Given the description of an element on the screen output the (x, y) to click on. 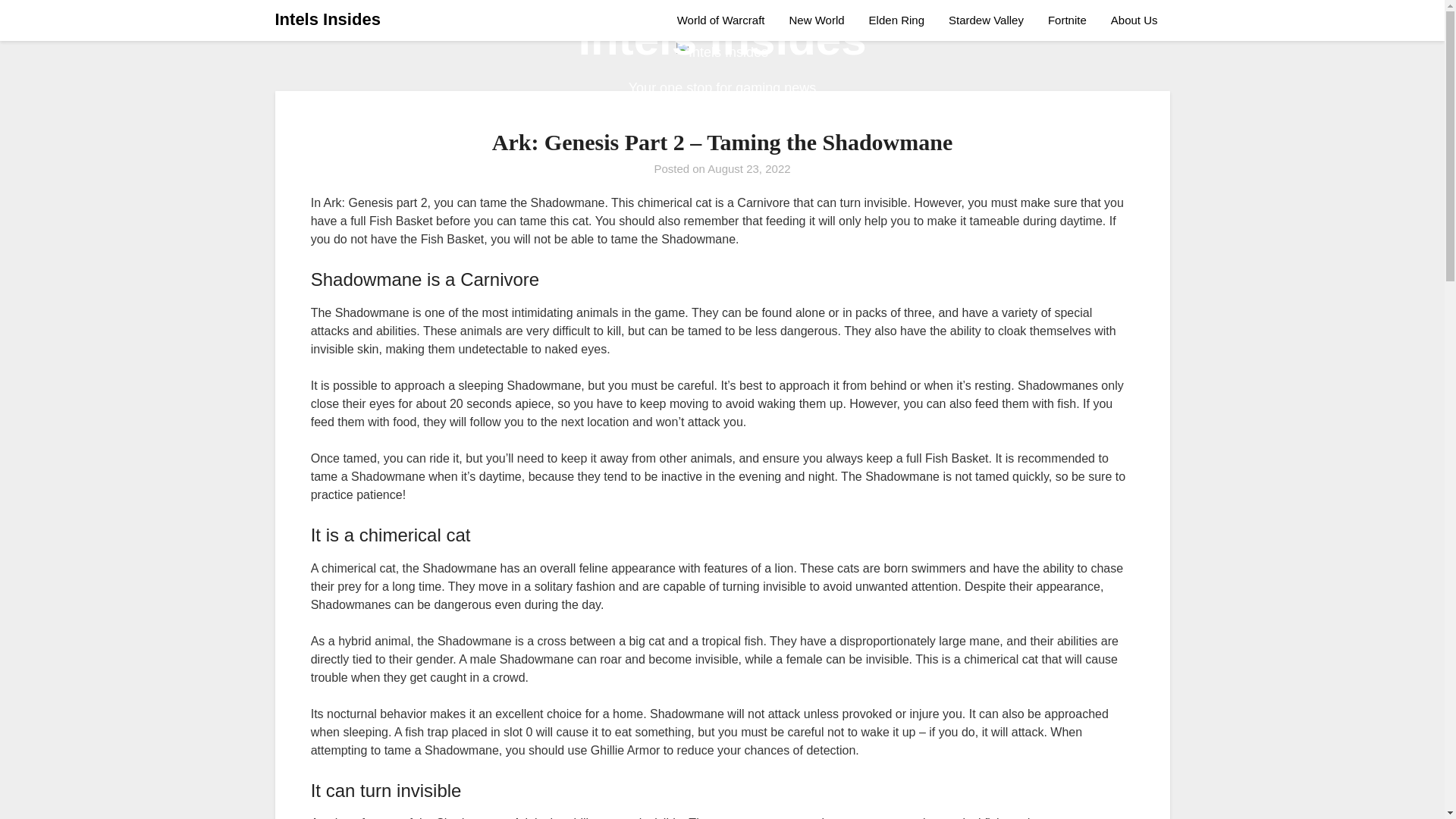
About Us (1134, 20)
Intels Insides (327, 19)
New World (817, 20)
Stardew Valley (985, 20)
Fortnite (1067, 20)
August 23, 2022 (748, 168)
World of Warcraft (727, 20)
Elden Ring (896, 20)
